Given the description of an element on the screen output the (x, y) to click on. 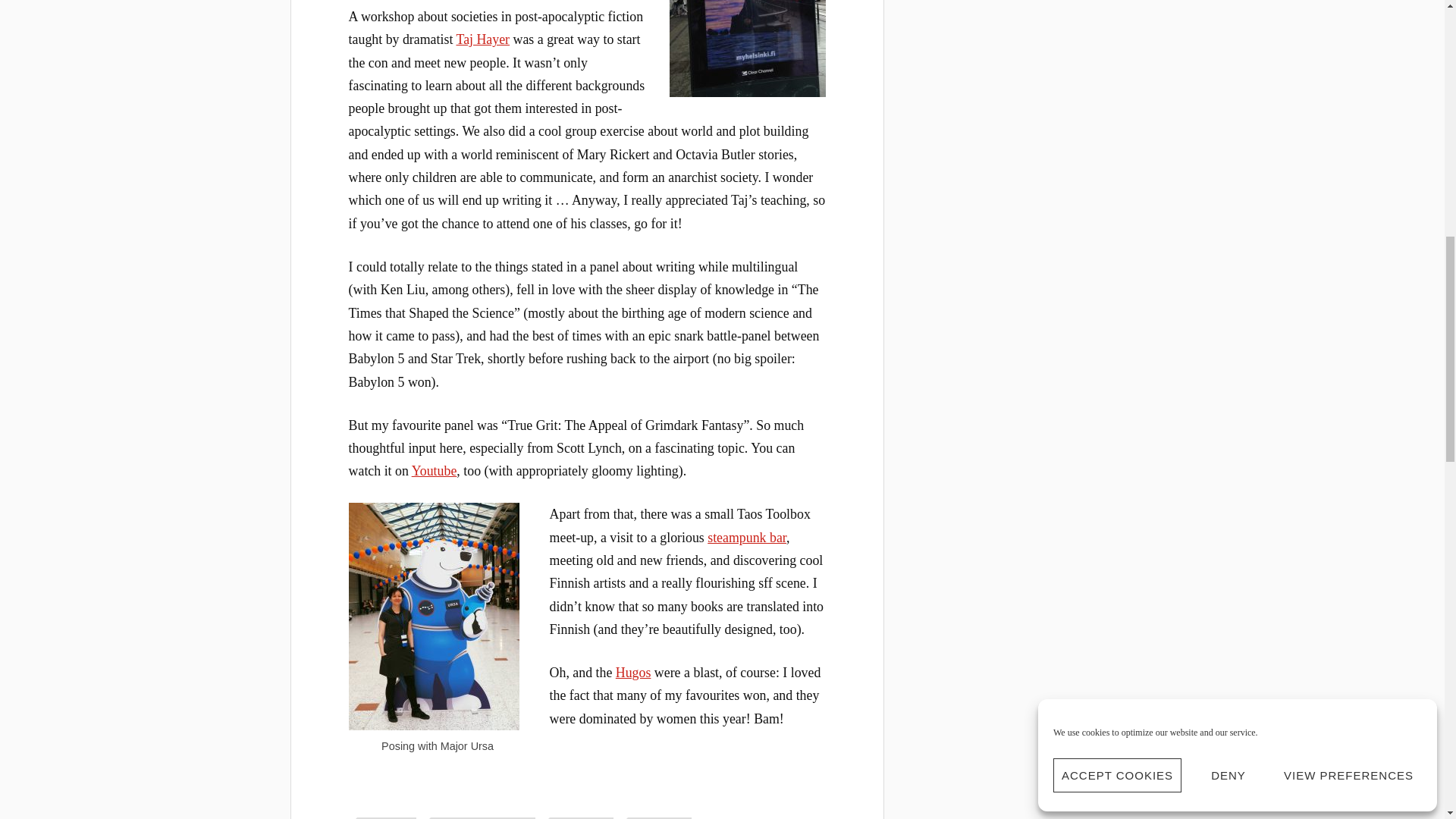
steampunk bar (746, 537)
Taj Hayer (482, 38)
Youtube (434, 470)
Hugos (632, 672)
